Given the description of an element on the screen output the (x, y) to click on. 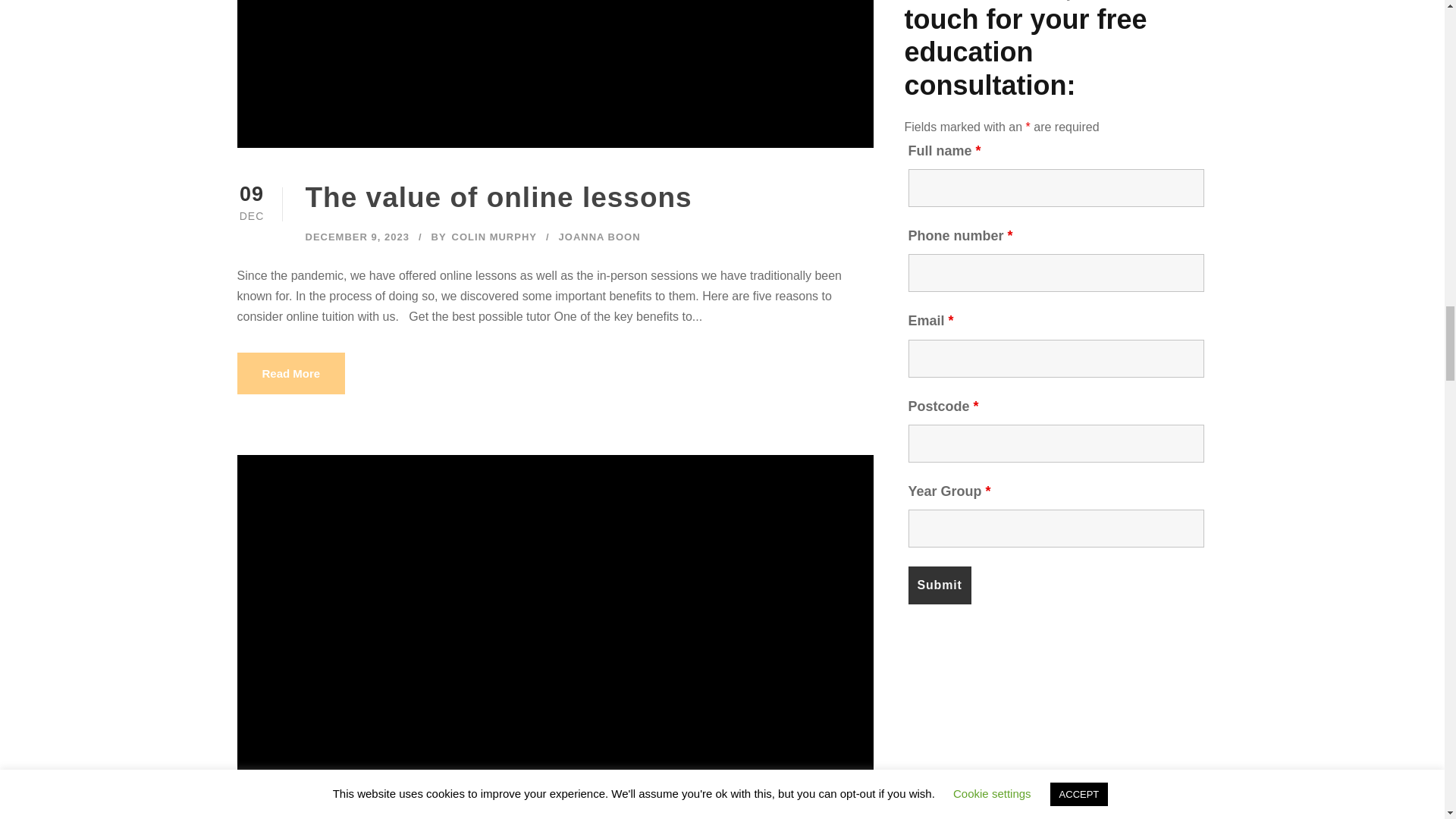
Posts by Colin Murphy (494, 236)
Submit (939, 585)
